Given the description of an element on the screen output the (x, y) to click on. 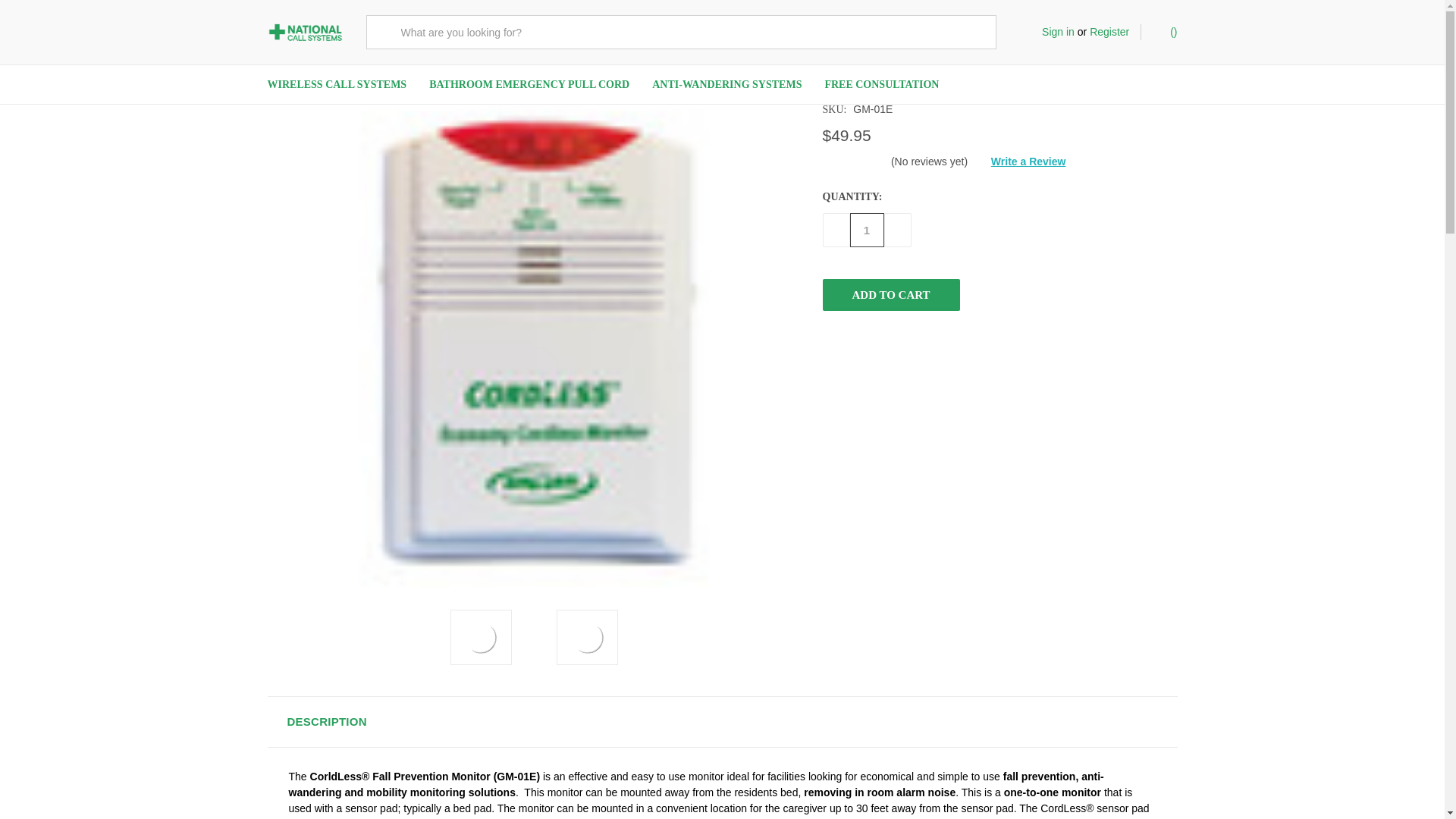
FREE CONSULTATION (881, 84)
BATHROOM EMERGENCY PULL CORD (528, 84)
ANTI-WANDERING SYSTEMS (726, 84)
GM-01E Mounted in Hallway (588, 637)
Register (1109, 32)
Add to Cart (890, 295)
1 (865, 229)
WIRELESS CALL SYSTEMS (337, 84)
Fall Prevention (341, 33)
Home (280, 33)
